Given the description of an element on the screen output the (x, y) to click on. 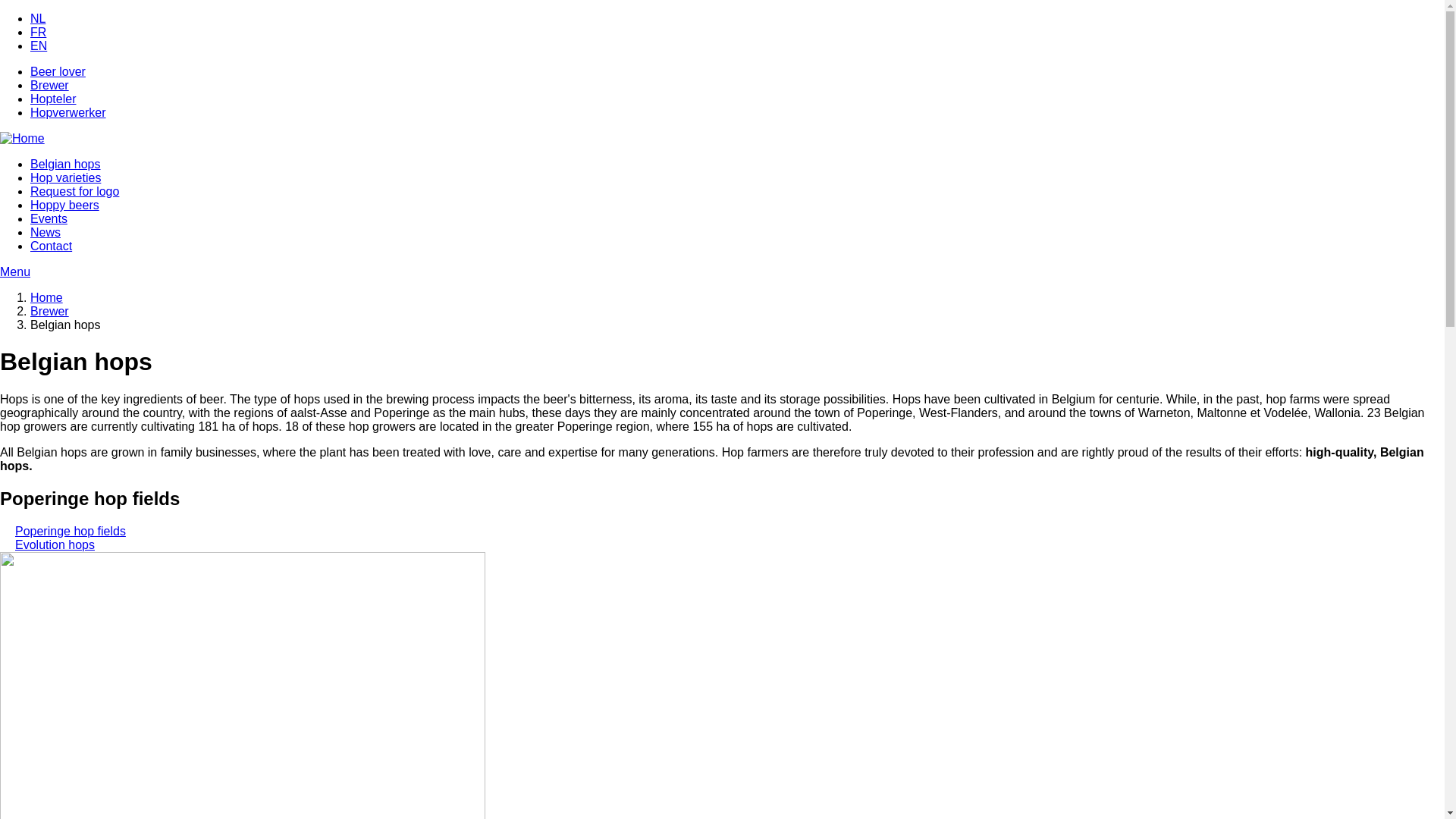
FR Element type: text (38, 31)
Hopteler Element type: text (52, 98)
Brewer Element type: text (49, 84)
Menu Element type: text (722, 271)
Events Element type: text (48, 218)
Hop varieties Element type: text (65, 177)
Skip to main content Element type: text (0, 12)
Beer lover Element type: text (57, 71)
Poperinge hop fields Element type: text (70, 530)
Contact Element type: text (51, 245)
Brewer Element type: text (49, 310)
EN Element type: text (38, 45)
Hoppy beers Element type: text (64, 204)
Hopverwerker Element type: text (68, 112)
Home Element type: text (46, 297)
News Element type: text (45, 231)
Belgian hops Element type: text (65, 163)
Request for logo Element type: text (74, 191)
Evolution hops Element type: text (54, 544)
NL Element type: text (37, 18)
